Given the description of an element on the screen output the (x, y) to click on. 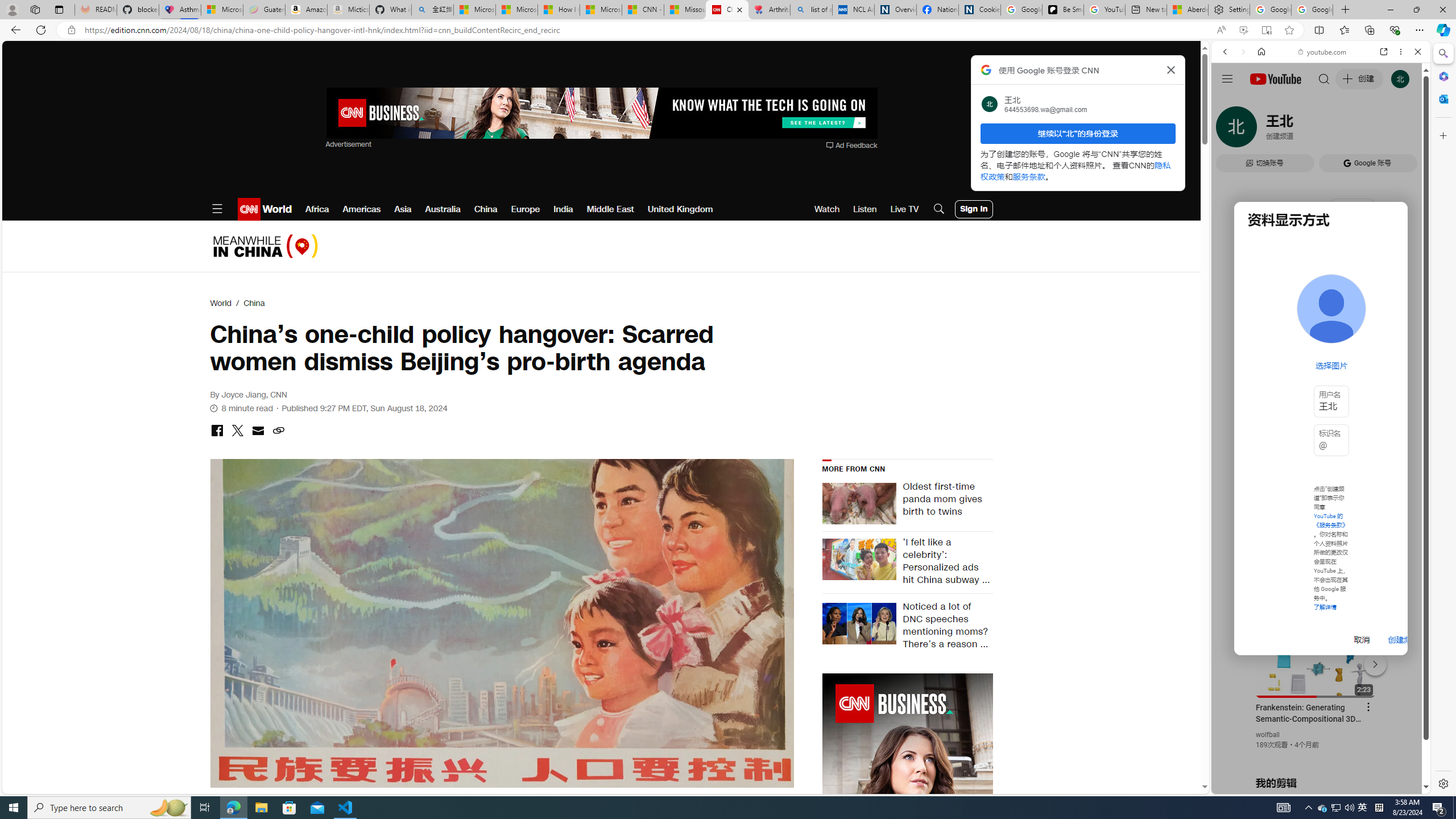
Preferences (1403, 129)
Class: icon-social-facebook (216, 430)
India (563, 209)
Class: Bz112c Bz112c-r9oPif (1170, 69)
YouTube - YouTube (1315, 560)
